Given the description of an element on the screen output the (x, y) to click on. 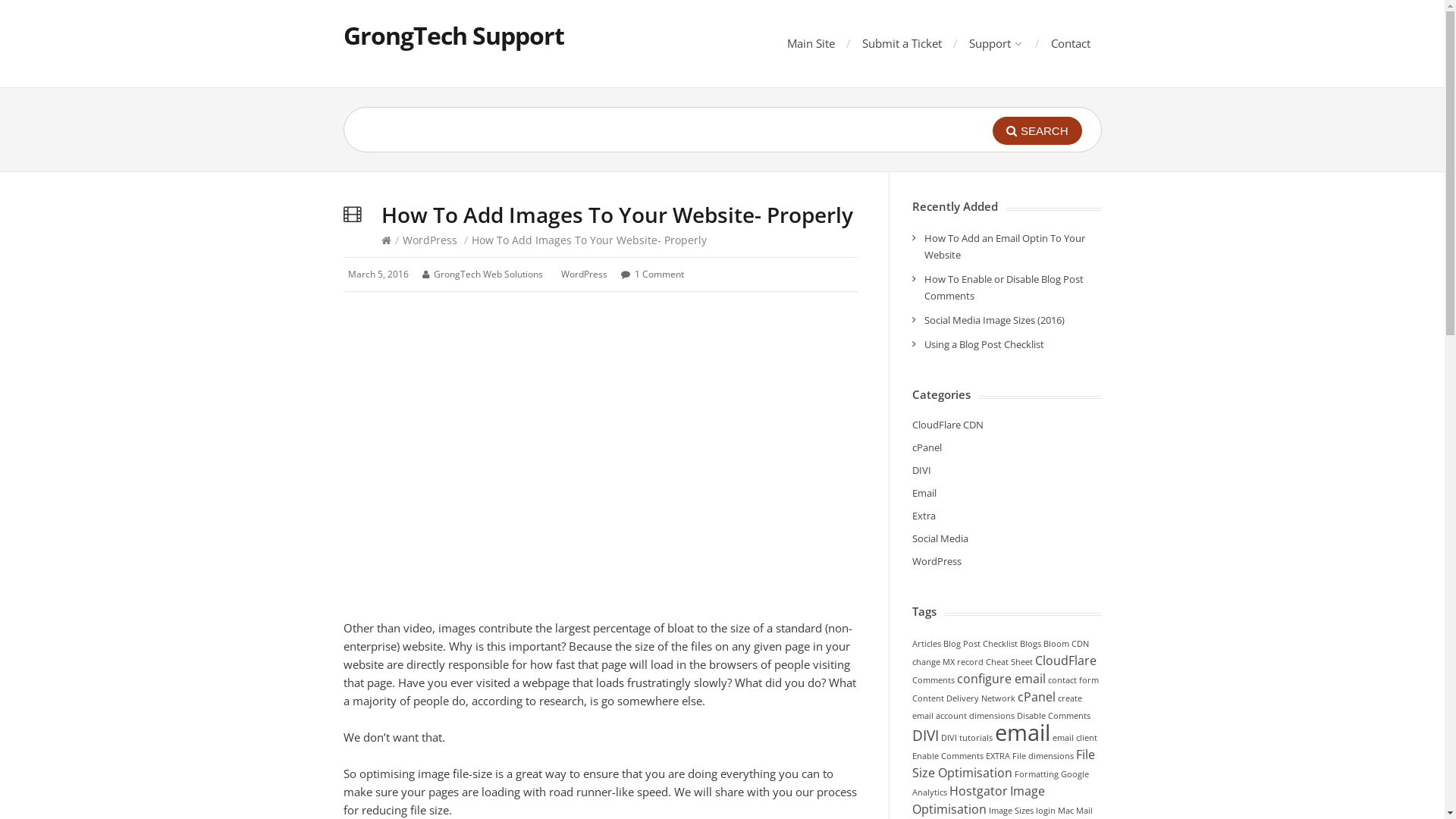
Hostgator Element type: text (978, 790)
SEARCH Element type: text (1037, 130)
Using a Blog Post Checklist Element type: text (983, 344)
Support Element type: text (994, 42)
WordPress Element type: text (935, 560)
EXTRA Element type: text (997, 755)
1 Comment Element type: text (658, 273)
create email account Element type: text (996, 707)
Image Sizes Element type: text (1010, 810)
Image Optimisation Element type: text (977, 799)
WordPress Element type: text (428, 239)
Formatting Element type: text (1036, 773)
Social Media Element type: text (939, 538)
Disable Comments Element type: text (1052, 715)
Content Delivery Network Element type: text (962, 698)
Google Analytics Element type: text (999, 782)
Social Media Image Sizes (2016) Element type: text (993, 319)
File Size Optimisation Element type: text (1002, 763)
Email Element type: text (923, 492)
DIVI tutorials Element type: text (965, 737)
Mac Mail Element type: text (1074, 810)
CDN Element type: text (1079, 643)
CloudFlare Element type: text (1064, 660)
login Element type: text (1045, 810)
DIVI Element type: text (924, 734)
email Element type: text (1022, 732)
How To Add an Email Optin To Your Website Element type: text (1003, 246)
Articles Element type: text (925, 643)
Main Site Element type: text (810, 42)
change MX record Element type: text (946, 661)
How To Enable or Disable Blog Post Comments Element type: text (1002, 287)
DIVI Element type: text (920, 469)
File dimensions Element type: text (1042, 755)
WordPress Element type: text (584, 273)
Comments Element type: text (932, 679)
GrongTech Support Element type: text (452, 34)
cPanel Element type: text (926, 447)
Contact Element type: text (1070, 42)
dimensions Element type: text (991, 715)
Bloom Element type: text (1056, 643)
Blog Post Checklist Element type: text (980, 643)
contact form Element type: text (1073, 679)
Submit a Ticket Element type: text (901, 42)
Blogs Element type: text (1029, 643)
Enable Comments Element type: text (946, 755)
Extra Element type: text (923, 515)
email client Element type: text (1074, 737)
CloudFlare CDN Element type: text (946, 424)
cPanel Element type: text (1036, 696)
configure email Element type: text (1001, 678)
Cheat Sheet Element type: text (1008, 661)
